Given the description of an element on the screen output the (x, y) to click on. 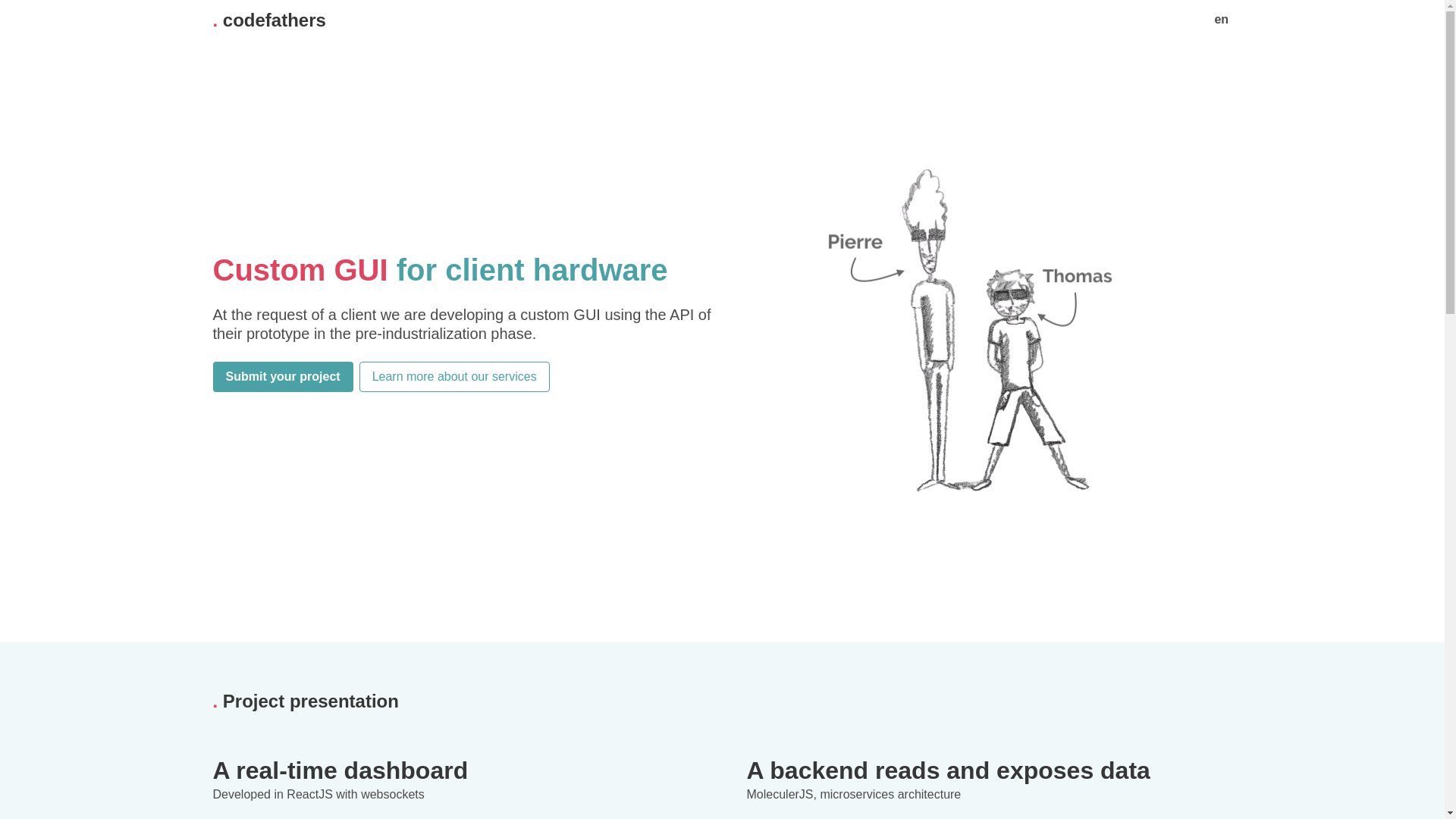
Learn more about our services Element type: text (454, 376)
en  Element type: text (1222, 19)
Submit your project Element type: text (282, 376)
. codefathers Element type: text (268, 19)
